Given the description of an element on the screen output the (x, y) to click on. 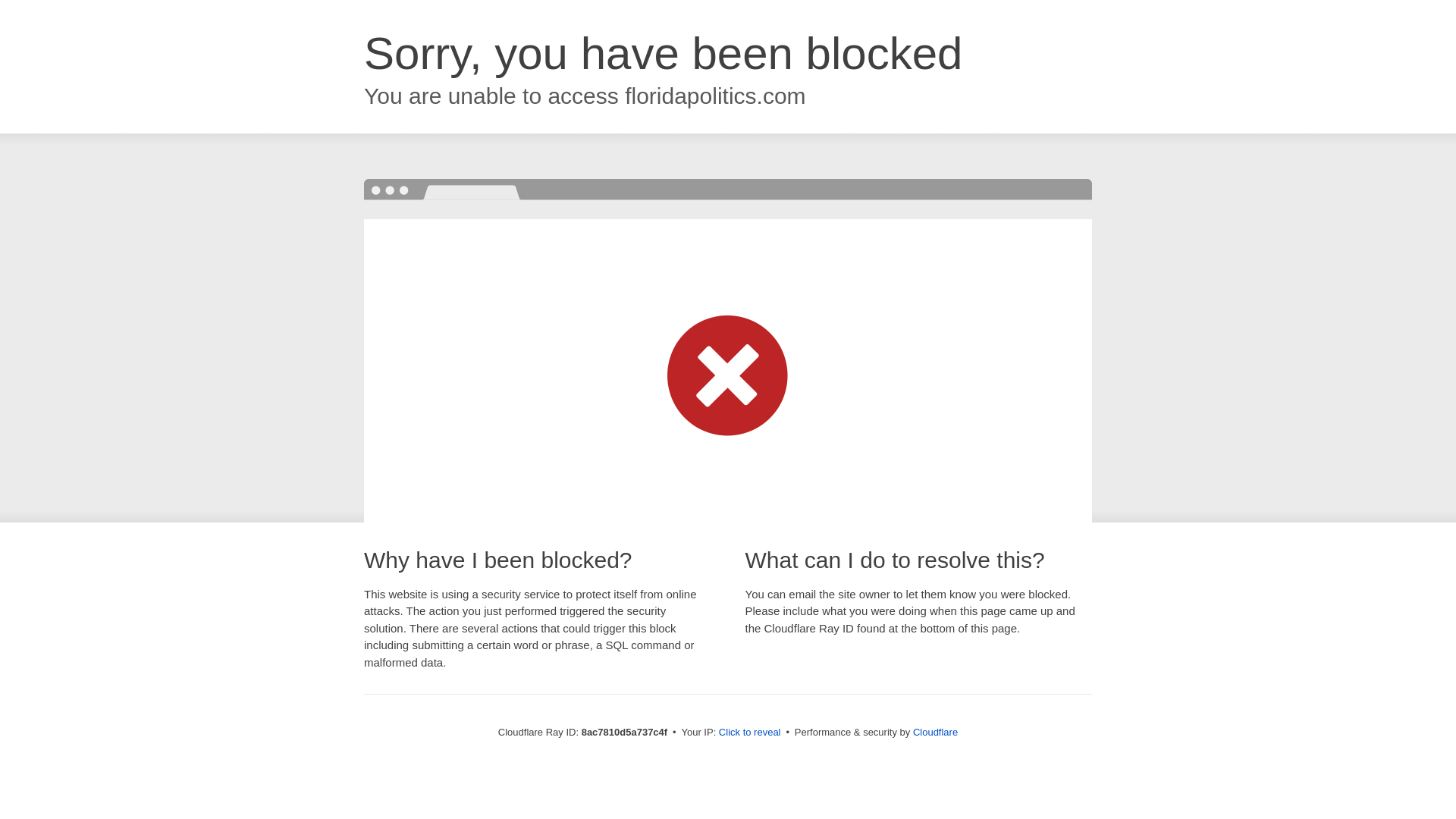
Cloudflare (935, 731)
Click to reveal (749, 732)
